Given the description of an element on the screen output the (x, y) to click on. 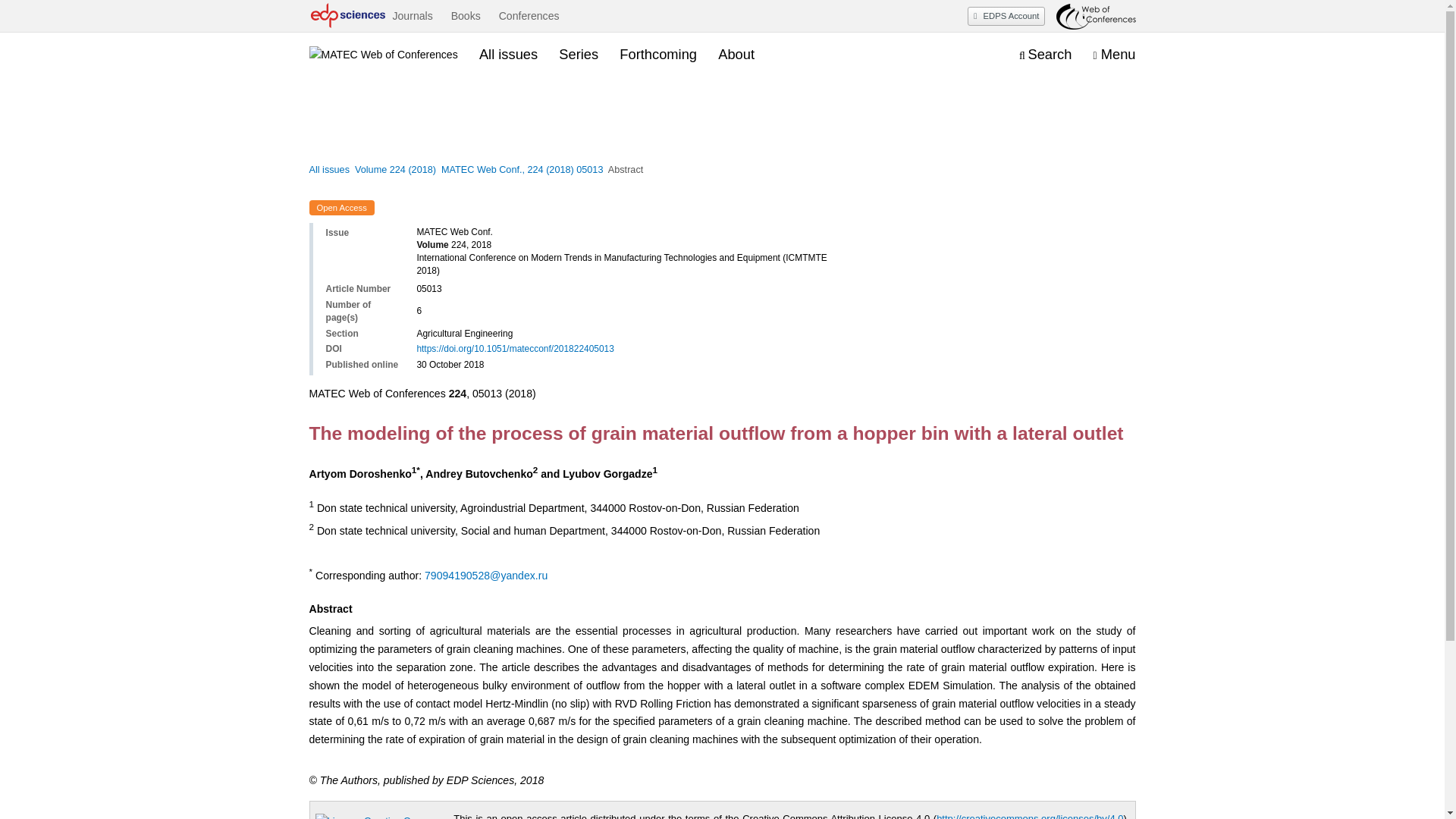
Display the search engine (1045, 55)
All issues (508, 54)
Menu (1114, 55)
About (735, 54)
Conferences (529, 16)
Books (465, 16)
Journals (411, 16)
All issues (328, 169)
Forthcoming (658, 54)
